Given the description of an element on the screen output the (x, y) to click on. 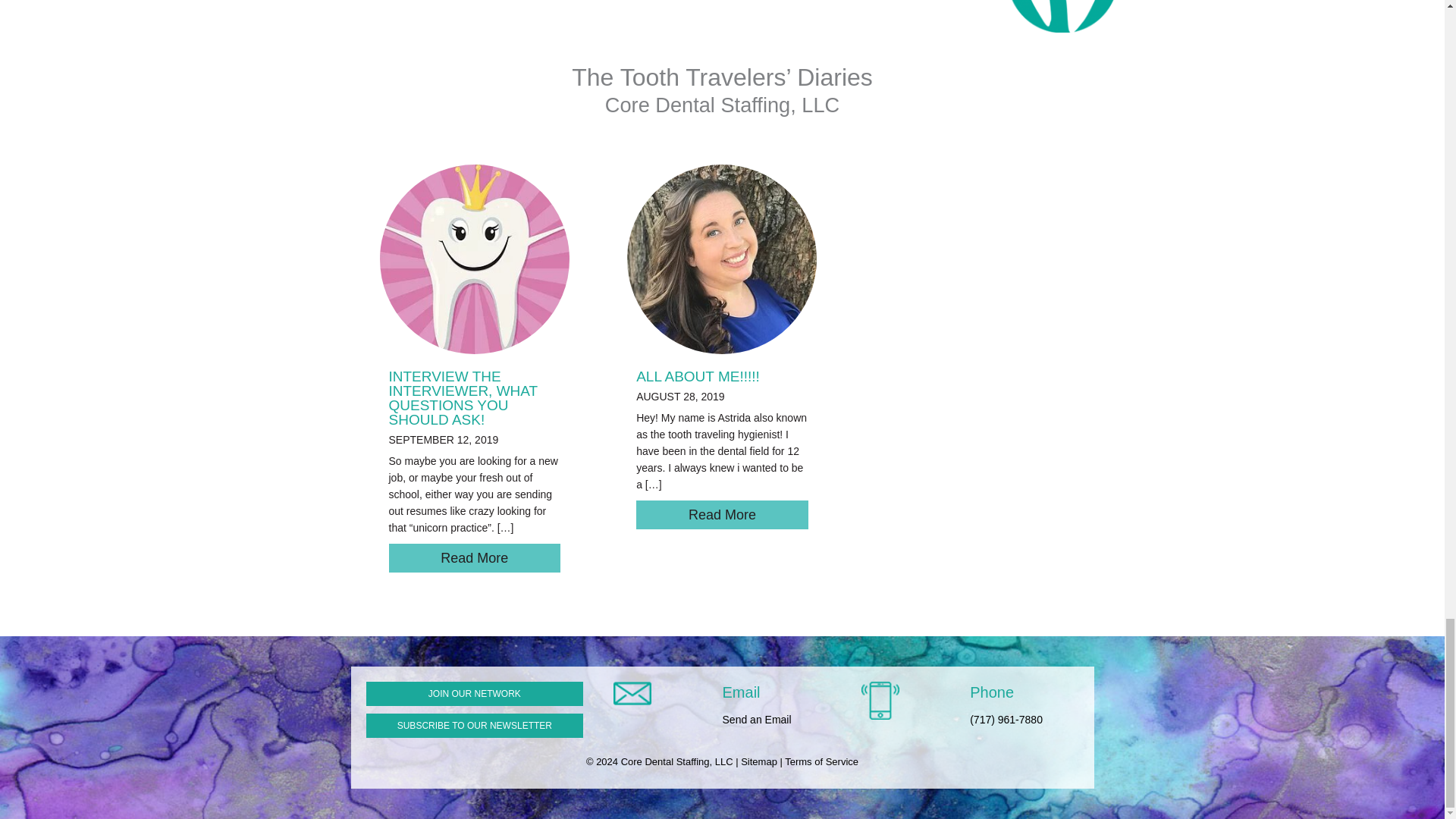
envelope (631, 693)
Send an Email (757, 719)
Email (741, 692)
All about ME!!!!! (721, 257)
Interview the Interviewer, what questions you should ask! (474, 557)
Read More (474, 557)
ALL ABOUT ME!!!!! (698, 376)
Interview the Interviewer, what questions you should ask! (462, 397)
Read More (722, 514)
All about ME!!!!! (722, 514)
